Given the description of an element on the screen output the (x, y) to click on. 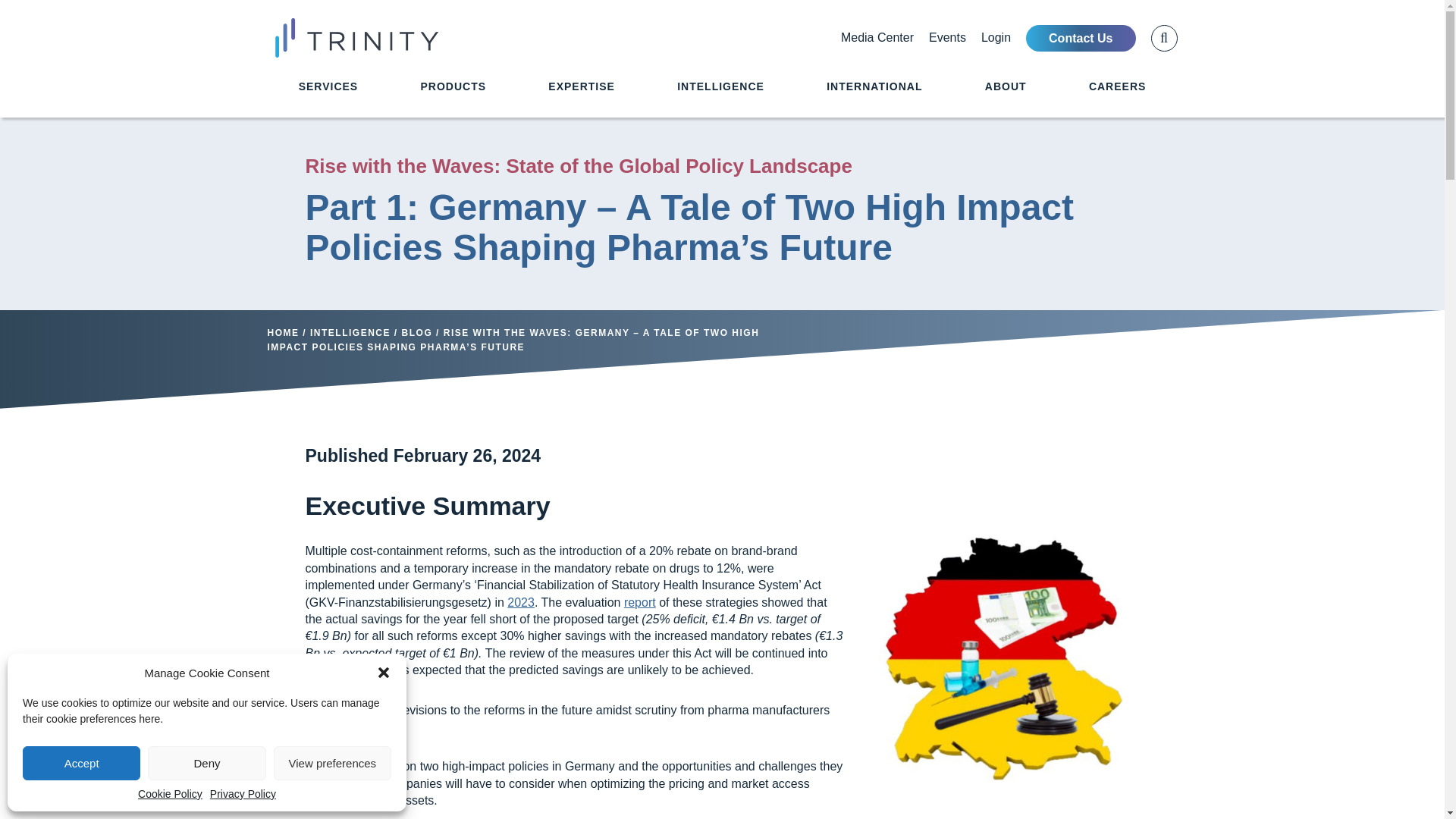
Contact Us (1080, 37)
Accept (81, 763)
Privacy Policy (242, 793)
Media Center (877, 38)
Go to the Blog category archives. (416, 332)
Login (995, 38)
Cookie Policy (170, 793)
Go to Trinity Life Sciences. (282, 332)
SERVICES (327, 98)
Deny (206, 763)
Events (947, 38)
View preferences (332, 763)
Go to Intelligence. (350, 332)
